Given the description of an element on the screen output the (x, y) to click on. 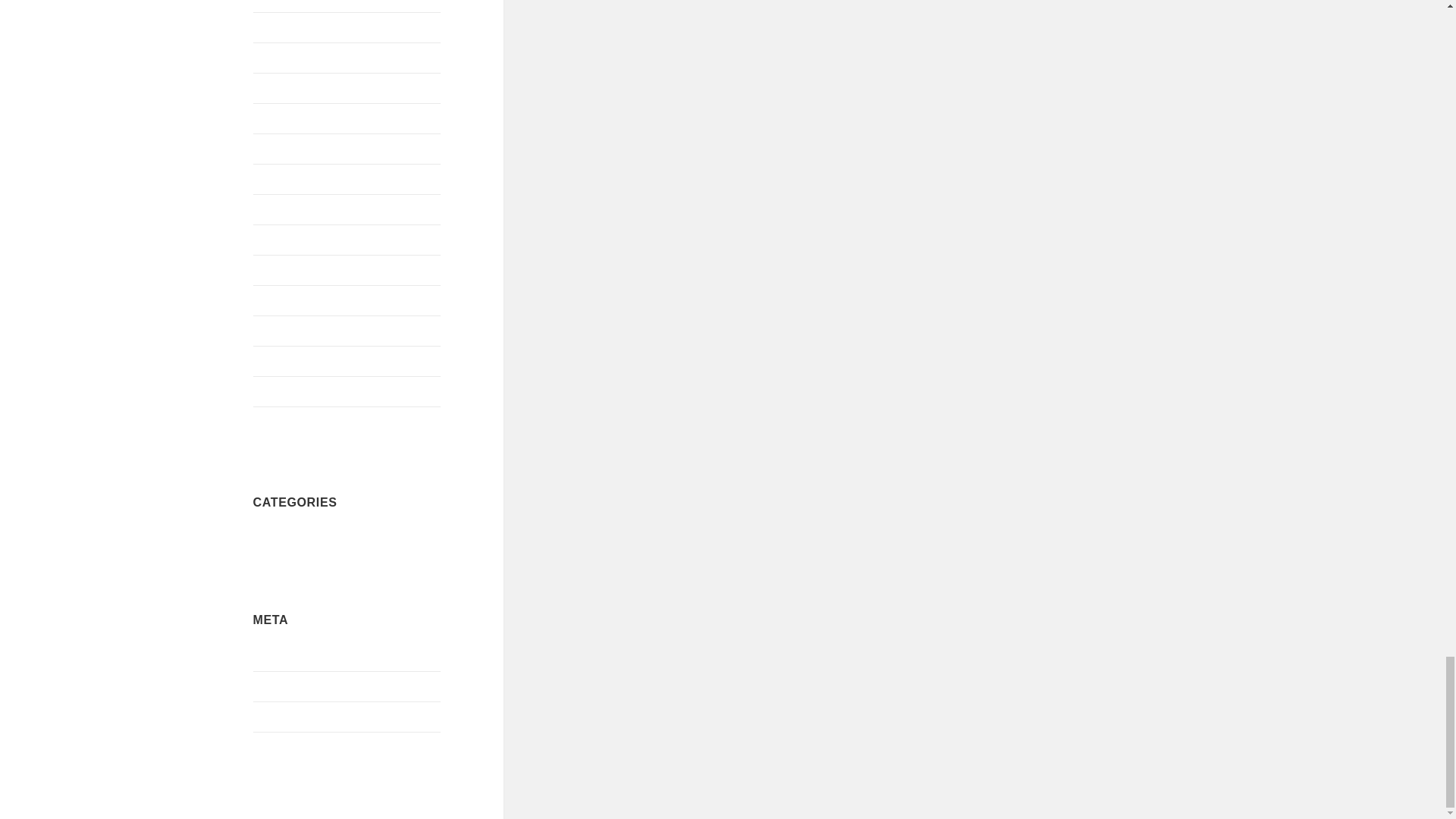
Really Simple Syndication (319, 716)
Really Simple Syndication (300, 686)
